Given the description of an element on the screen output the (x, y) to click on. 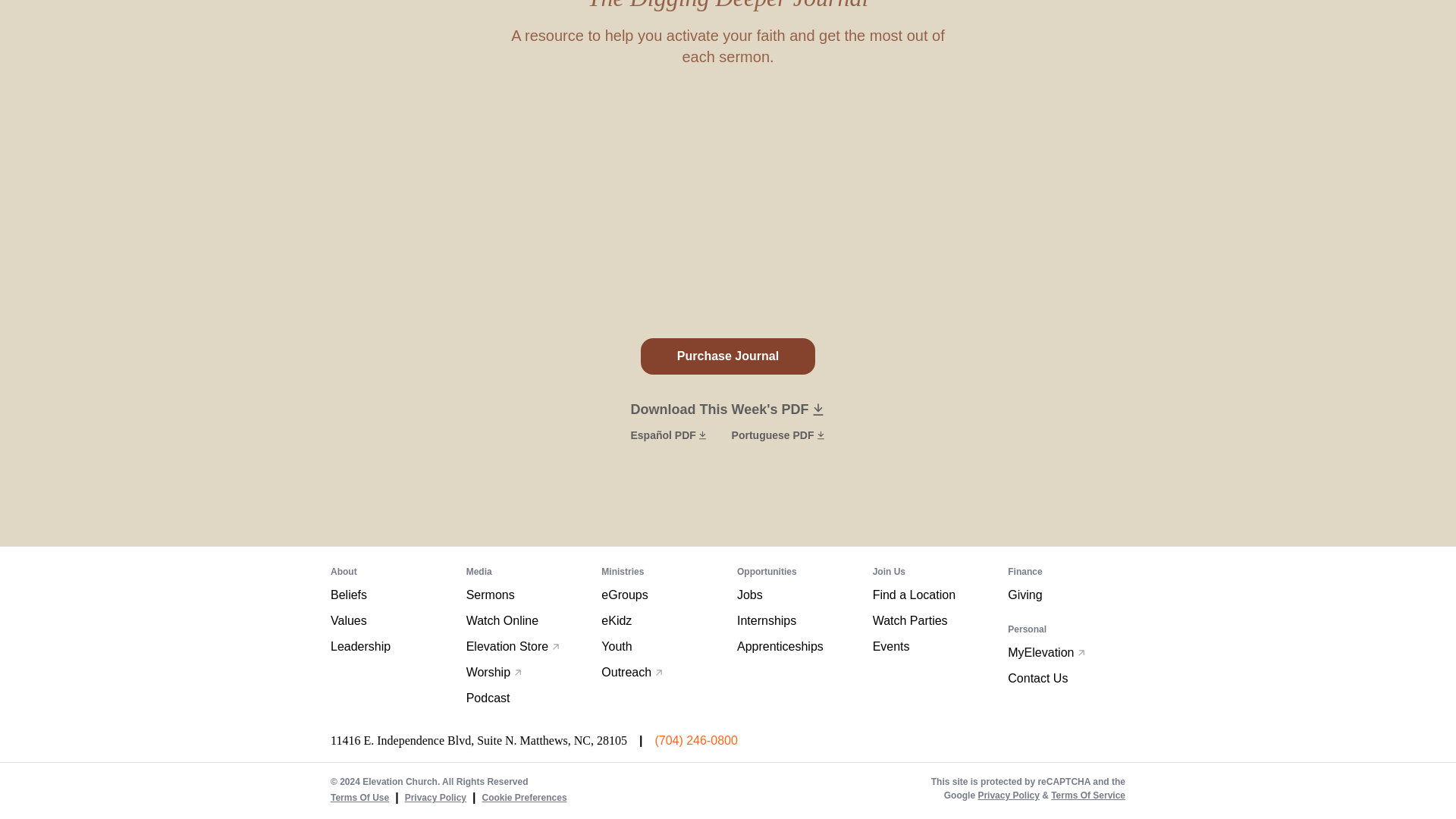
Download This Week's PDF (727, 409)
Podcast (488, 698)
Youth (616, 647)
Purchase Journal (727, 356)
eKidz (616, 620)
Outreach (632, 672)
Elevation Store (512, 647)
Portuguese PDF (778, 435)
Leadership (360, 647)
eGroups (624, 595)
Beliefs (348, 595)
Watch Online (501, 620)
Sermons (490, 595)
Values (348, 620)
Worship (493, 672)
